Given the description of an element on the screen output the (x, y) to click on. 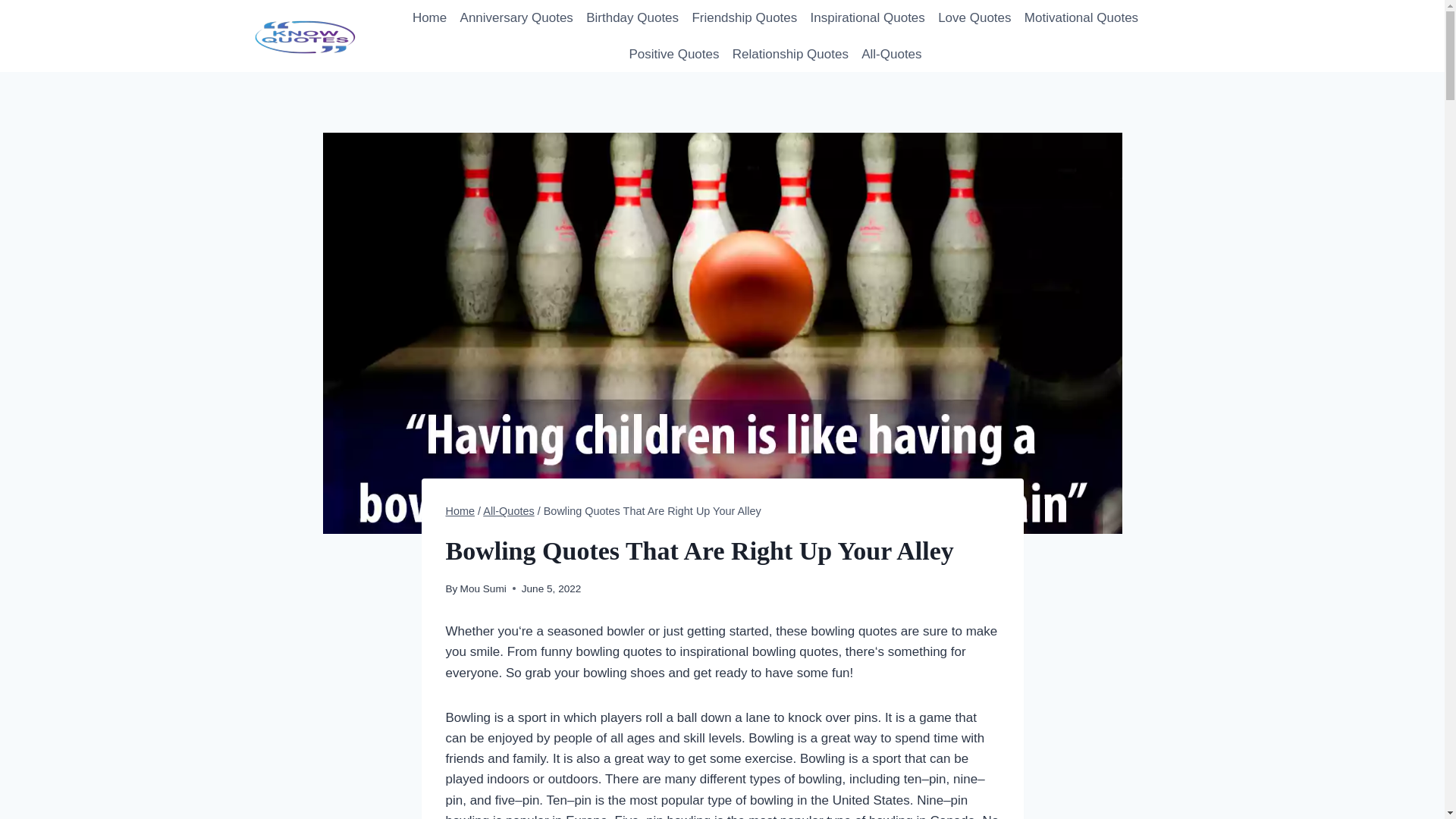
Mou Sumi (483, 588)
Birthday Quotes (632, 18)
Anniversary Quotes (515, 18)
Love Quotes (974, 18)
All-Quotes (892, 54)
Relationship Quotes (789, 54)
All-Quotes (508, 510)
Inspirational Quotes (867, 18)
Motivational Quotes (1080, 18)
Friendship Quotes (744, 18)
Home (429, 18)
Home (460, 510)
Positive Quotes (674, 54)
